Given the description of an element on the screen output the (x, y) to click on. 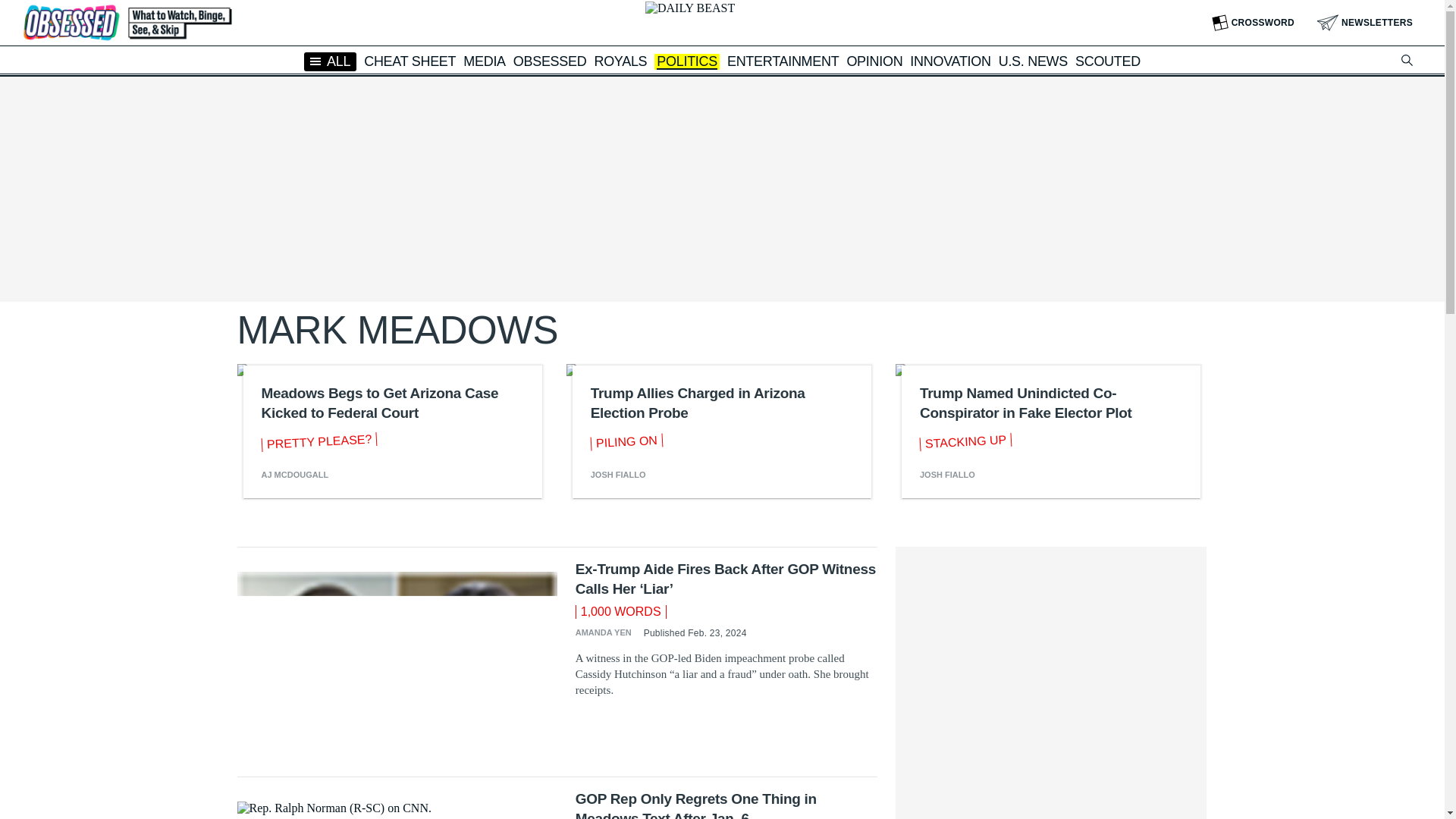
POLITICS (686, 61)
U.S. NEWS (1032, 60)
ALL (330, 60)
ROYALS (620, 60)
ENTERTAINMENT (782, 60)
OBSESSED (549, 60)
NEWSLETTERS (1364, 22)
INNOVATION (950, 60)
CROSSWORD (1252, 22)
MEDIA (484, 60)
